Given the description of an element on the screen output the (x, y) to click on. 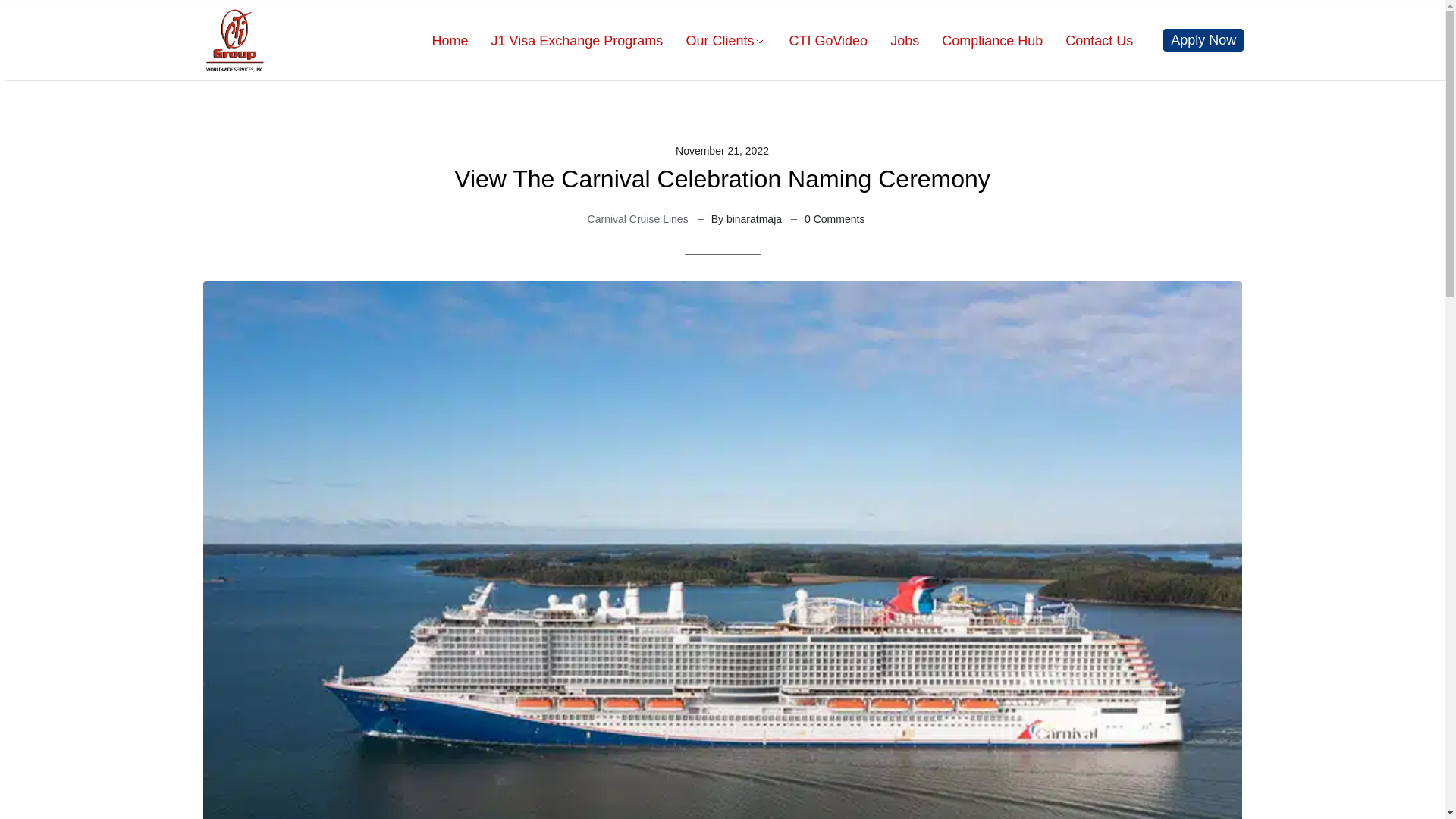
Our Clients (713, 40)
CTI GoVideo (816, 40)
Compliance Hub (980, 40)
J1 Visa Exchange Programs (565, 40)
Home (438, 40)
Apply Now (1203, 39)
Contact Us (1087, 40)
Jobs (892, 40)
